Given the description of an element on the screen output the (x, y) to click on. 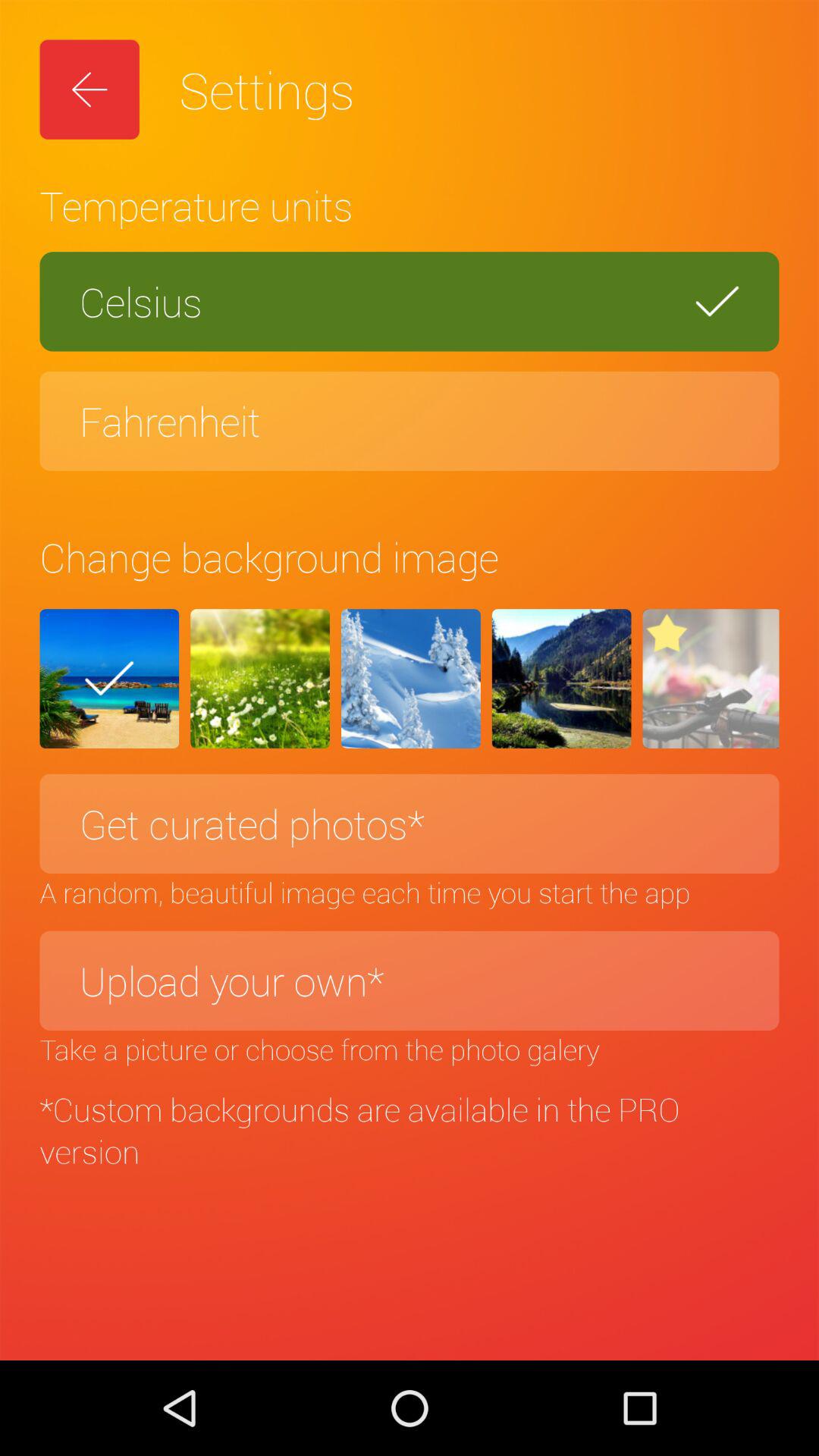
open the item below the change background image item (109, 678)
